Given the description of an element on the screen output the (x, y) to click on. 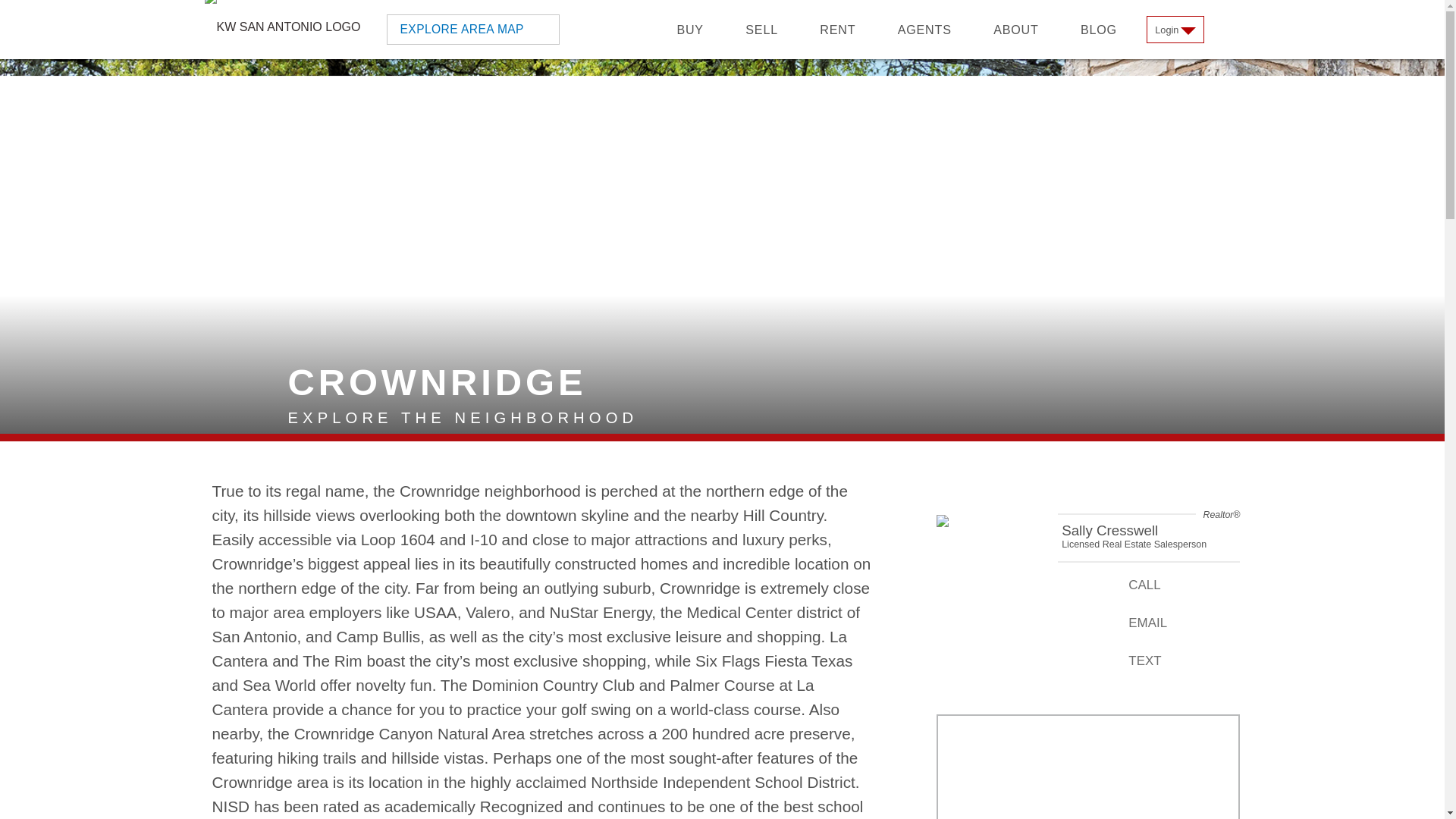
SELL (761, 29)
CROWNRIDGE (250, 404)
EXPLORE AREA MAP (462, 29)
